Given the description of an element on the screen output the (x, y) to click on. 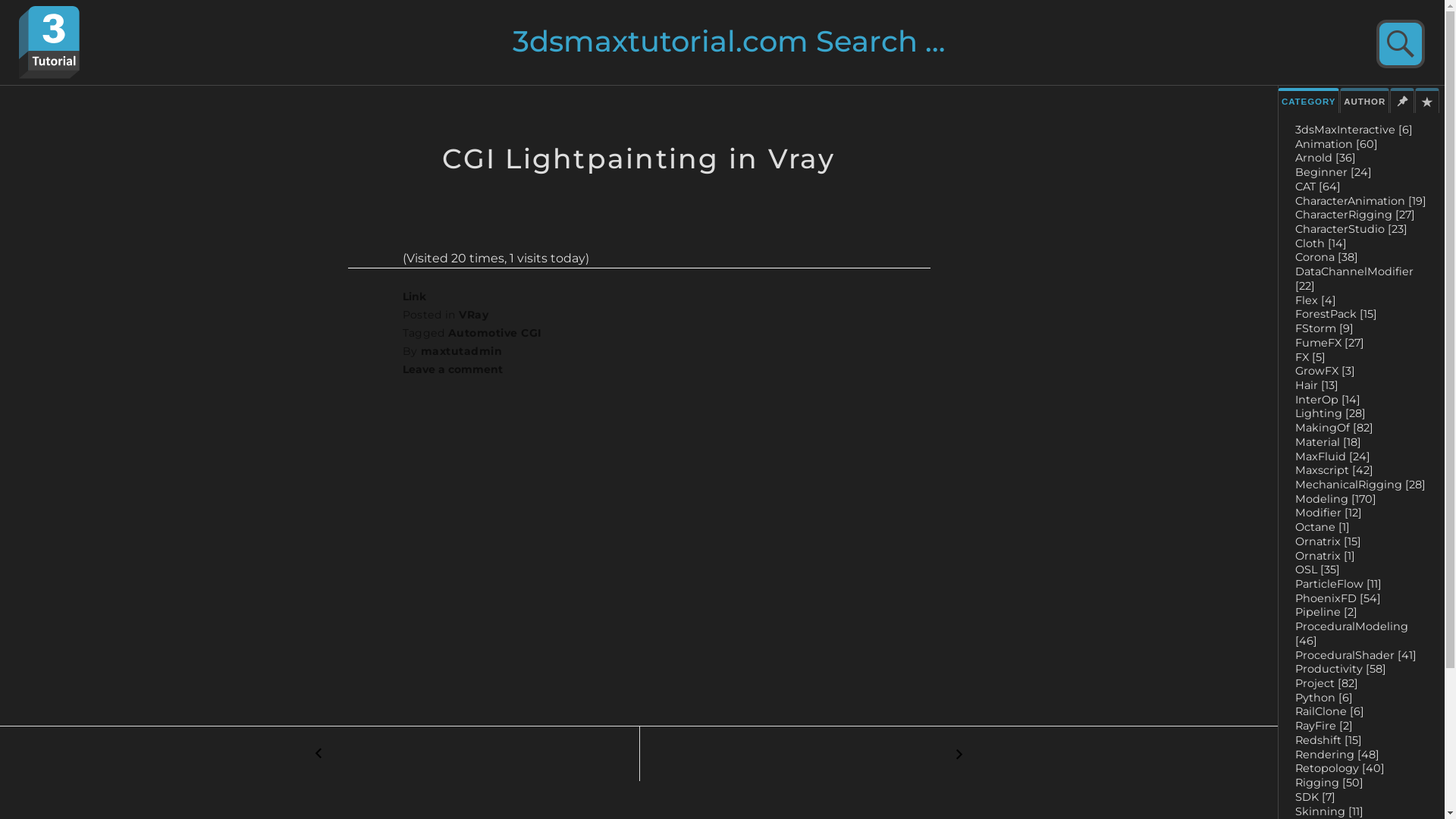
FX [5] Element type: text (1310, 357)
Retopology [40] Element type: text (1339, 768)
Modeling [170] Element type: text (1335, 498)
Material [18] Element type: text (1328, 441)
Lighting [28] Element type: text (1330, 413)
VRay Element type: text (473, 314)
AUTHOR Element type: text (1364, 99)
ProceduralShader [41] Element type: text (1355, 655)
Modifier [12] Element type: text (1328, 512)
Cloth [14] Element type: text (1320, 243)
CharacterRigging [27] Element type: text (1355, 214)
CharacterStudio [23] Element type: text (1351, 228)
DataChannelModifier [22] Element type: text (1354, 278)
ParticleFlow [11] Element type: text (1338, 583)
Project [82] Element type: text (1326, 683)
MechanicalRigging [28] Element type: text (1360, 484)
CAT [64] Element type: text (1317, 186)
Hair [13] Element type: text (1316, 385)
Search Element type: text (1395, 44)
maxtutadmin Element type: text (461, 350)
ProceduralModeling [46] Element type: text (1351, 633)
Flex [4] Element type: text (1315, 300)
Productivity [58] Element type: text (1340, 668)
Leave a comment Element type: text (451, 369)
ForestPack [15] Element type: text (1336, 313)
GrowFX [3] Element type: text (1325, 370)
Rigging [50] Element type: text (1329, 782)
3dsMaxInteractive [6] Element type: text (1353, 129)
Automotive CGI Element type: text (495, 332)
Octane [1] Element type: text (1322, 526)
Corona [38] Element type: text (1326, 256)
CATEGORY Element type: text (1308, 99)
InterOp [14] Element type: text (1327, 399)
Maxscript [42] Element type: text (1334, 469)
RailClone [6] Element type: text (1329, 711)
Ornatrix [1] Element type: text (1325, 555)
Redshift [15] Element type: text (1328, 739)
FumeFX [27] Element type: text (1329, 342)
CharacterAnimation [19] Element type: text (1360, 200)
RayFire [2] Element type: text (1323, 725)
Skinning [11] Element type: text (1329, 810)
MaxFluid [24] Element type: text (1332, 456)
PhoenixFD [54] Element type: text (1337, 598)
Link Element type: text (413, 296)
Beginner [24] Element type: text (1333, 171)
Photographers Guide to CGI  Element type: text (957, 753)
SDK [7] Element type: text (1315, 796)
MakingOf [82] Element type: text (1334, 427)
OSL [35] Element type: text (1317, 569)
Pipeline [2] Element type: text (1326, 611)
Arnold [36] Element type: text (1325, 157)
Rendering [48] Element type: text (1337, 754)
Animation [60] Element type: text (1336, 143)
Python [6] Element type: text (1323, 697)
FStorm [9] Element type: text (1324, 328)
Ornatrix [15] Element type: text (1328, 541)
